Given the description of an element on the screen output the (x, y) to click on. 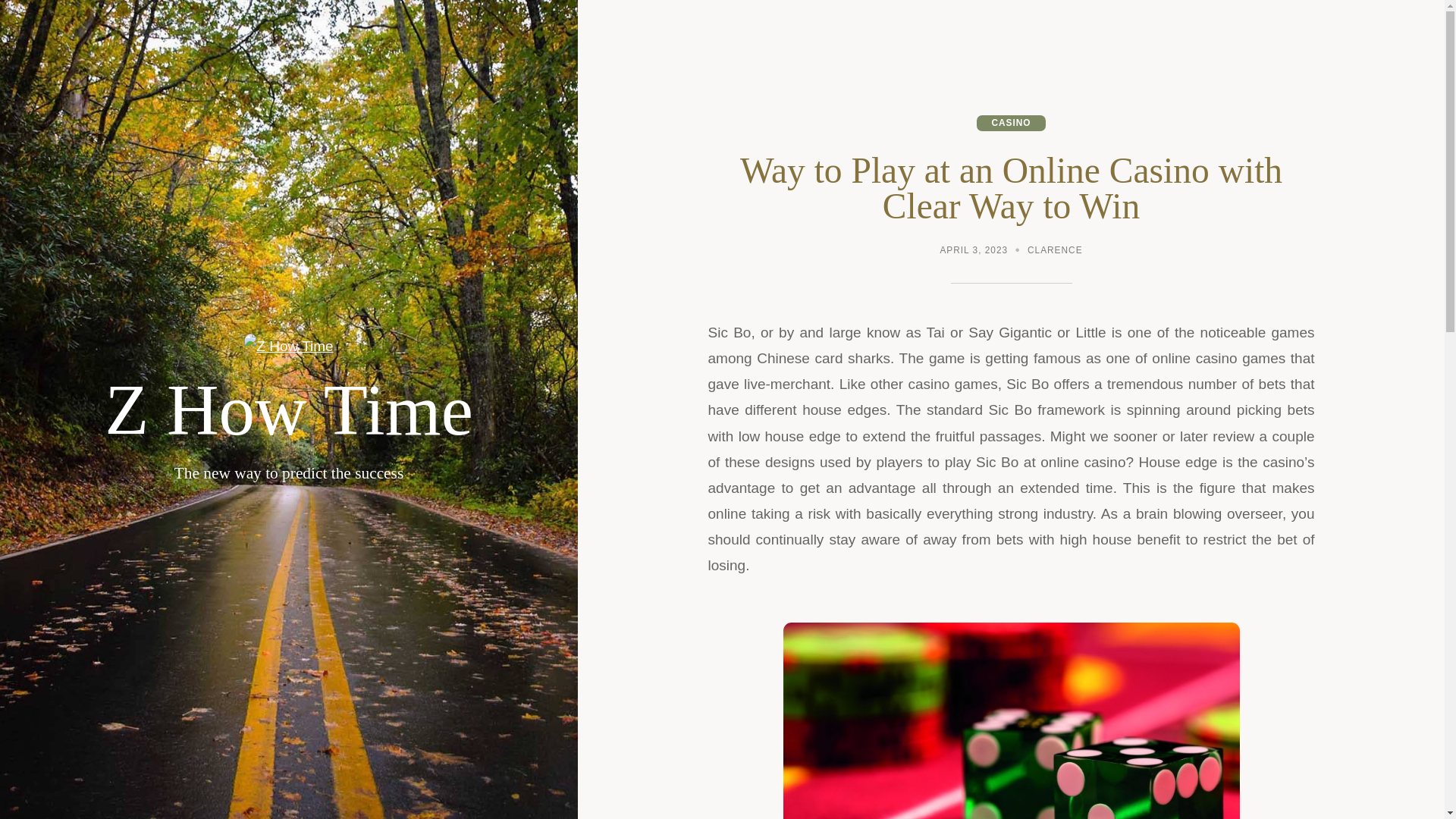
APRIL 3, 2023 (973, 251)
Z How Time (288, 410)
CASINO (1010, 123)
CLARENCE (1055, 251)
